Given the description of an element on the screen output the (x, y) to click on. 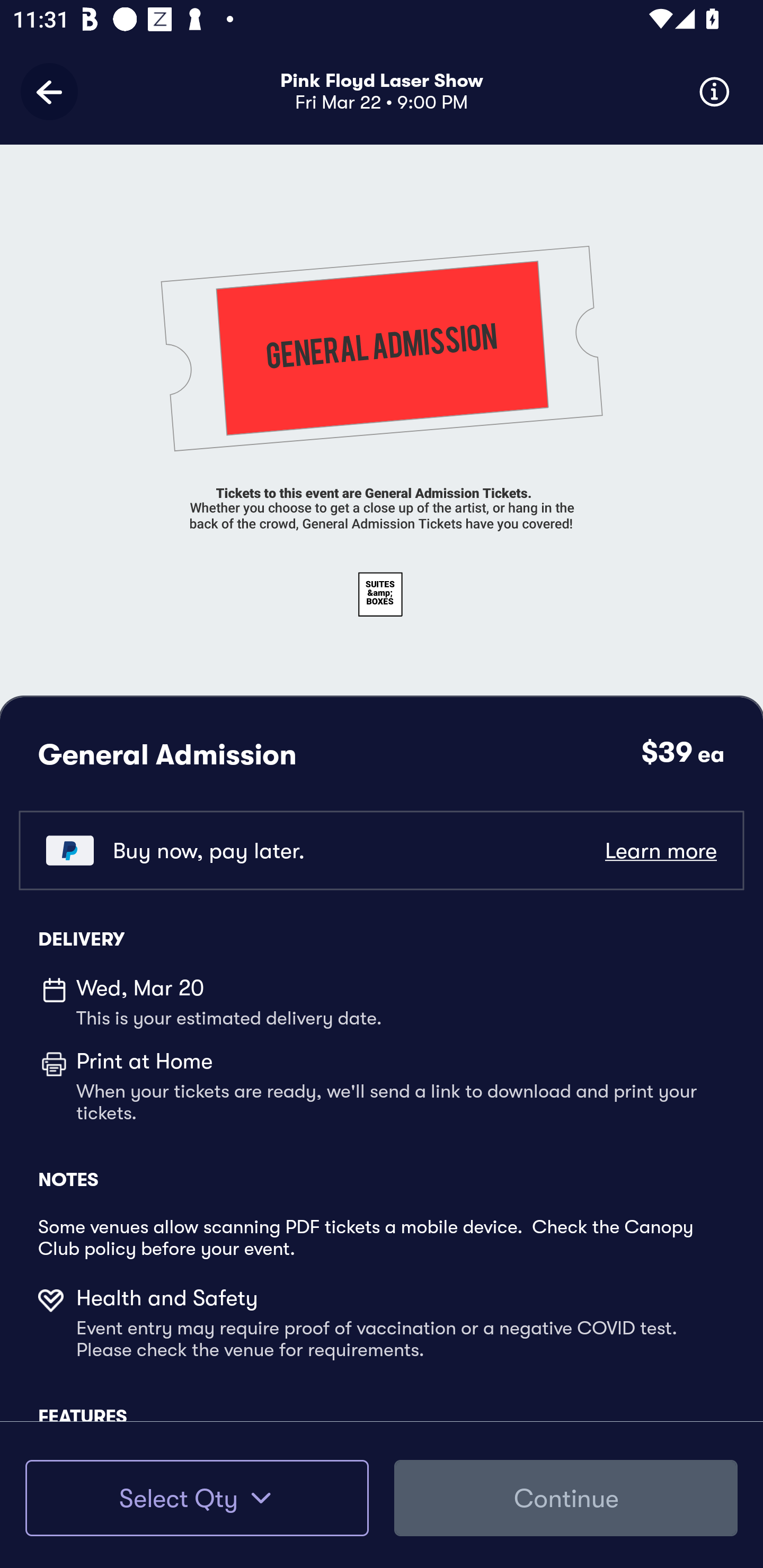
Learn more (660, 850)
Select Qty (196, 1497)
Continue (565, 1497)
